Given the description of an element on the screen output the (x, y) to click on. 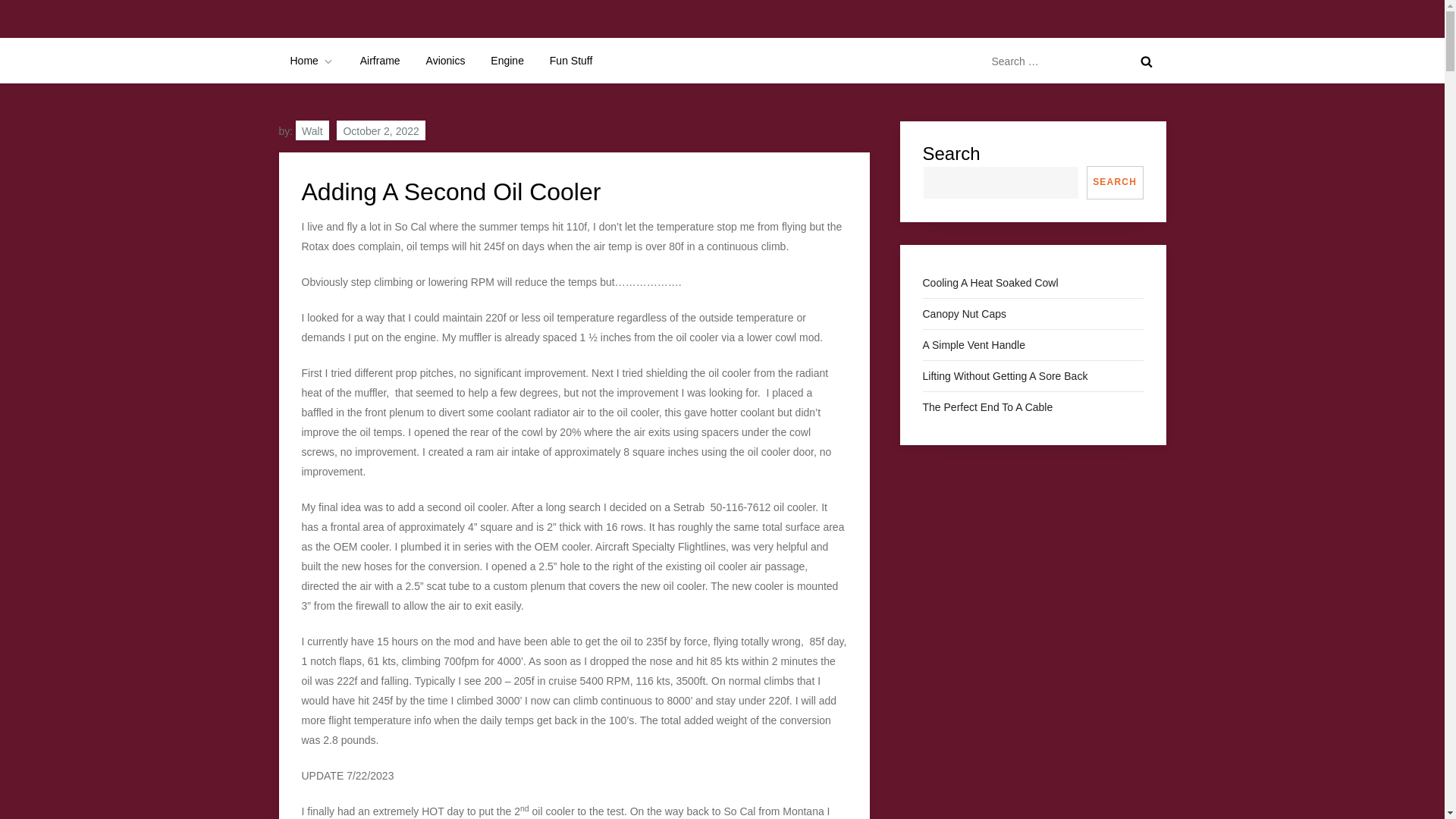
Cooling A Heat Soaked Cowl (989, 282)
Airframe (380, 60)
Walt (312, 130)
Home (312, 60)
SEARCH (1114, 182)
Fun Stuff (571, 60)
A Simple Vent Handle (973, 344)
Engine (507, 60)
Avionics (445, 60)
Lifting Without Getting A Sore Back (1004, 375)
Canopy Nut Caps (963, 313)
Seagull (319, 32)
The Perfect End To A Cable (986, 406)
October 2, 2022 (380, 130)
